Given the description of an element on the screen output the (x, y) to click on. 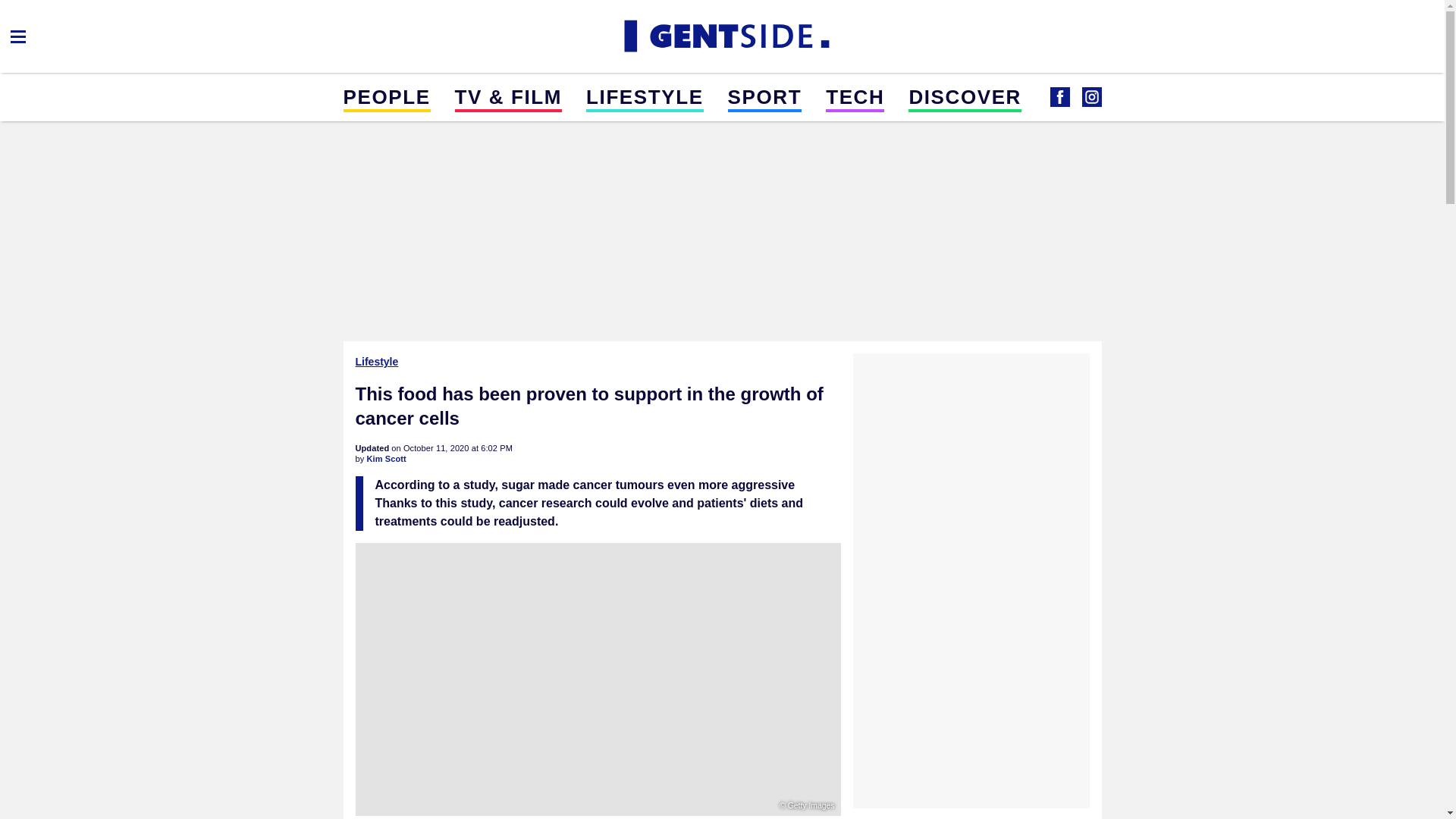
Gentside UK (721, 36)
LIFESTYLE (644, 96)
Gentside Lifestyle (1058, 96)
DISCOVER (965, 96)
TECH (854, 96)
Lifestyle (378, 361)
Gentside UK (1090, 96)
PEOPLE (385, 96)
SPORT (765, 96)
